Given the description of an element on the screen output the (x, y) to click on. 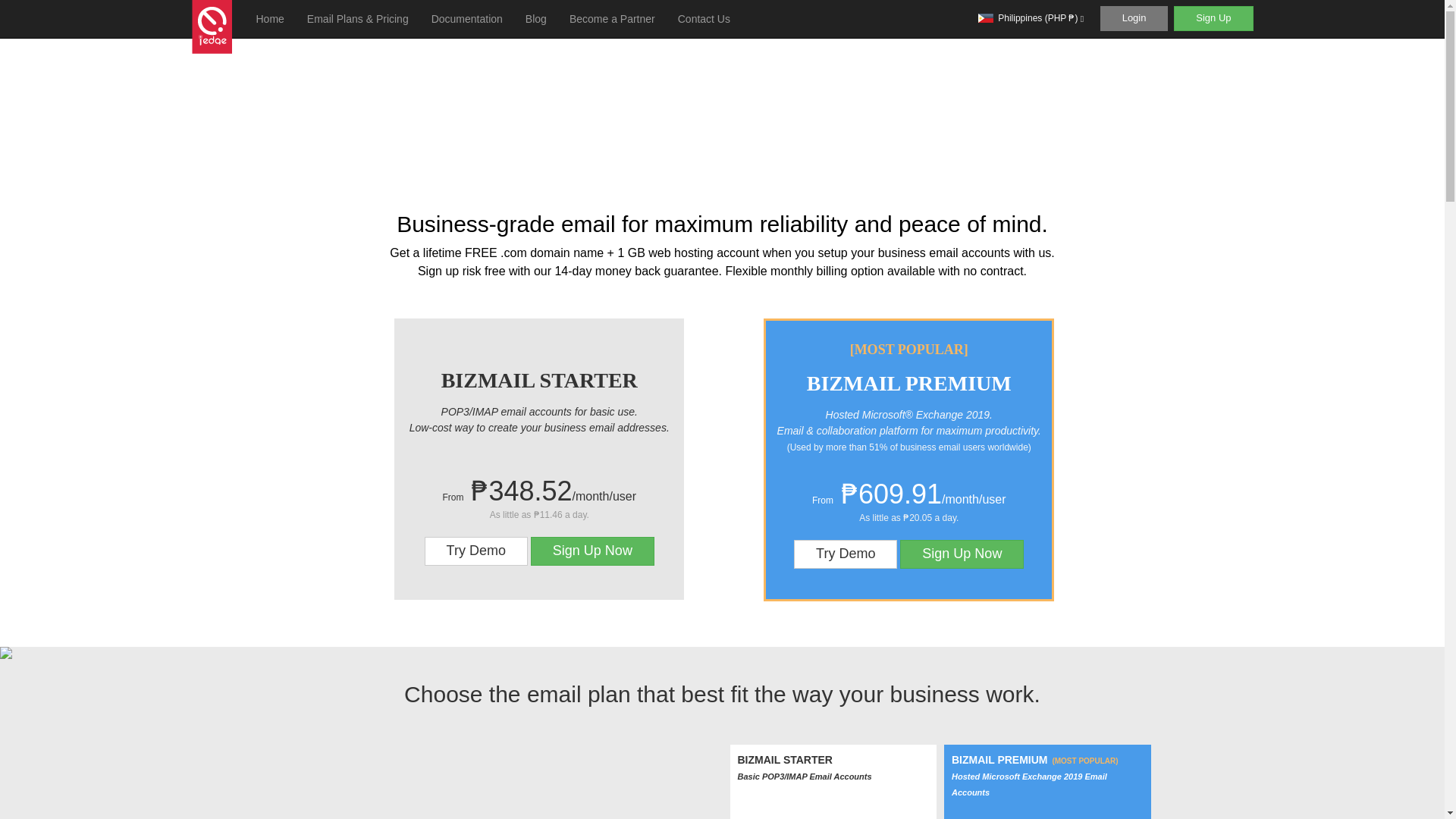
Become a Partner (611, 18)
Sign up for business email services here (1212, 18)
Try Demo (476, 551)
Login to Client Portal (1134, 18)
Create email addresses for your business here (961, 553)
Contact Us (703, 18)
Try the Hosted Exchange 2019 demo for free (476, 551)
Try Demo (844, 553)
Philippines (985, 17)
Sign Up Now (961, 553)
Blog (535, 18)
Sign Up (1212, 18)
Home (269, 18)
Login (1134, 18)
Create email addresses for your business here (592, 551)
